Given the description of an element on the screen output the (x, y) to click on. 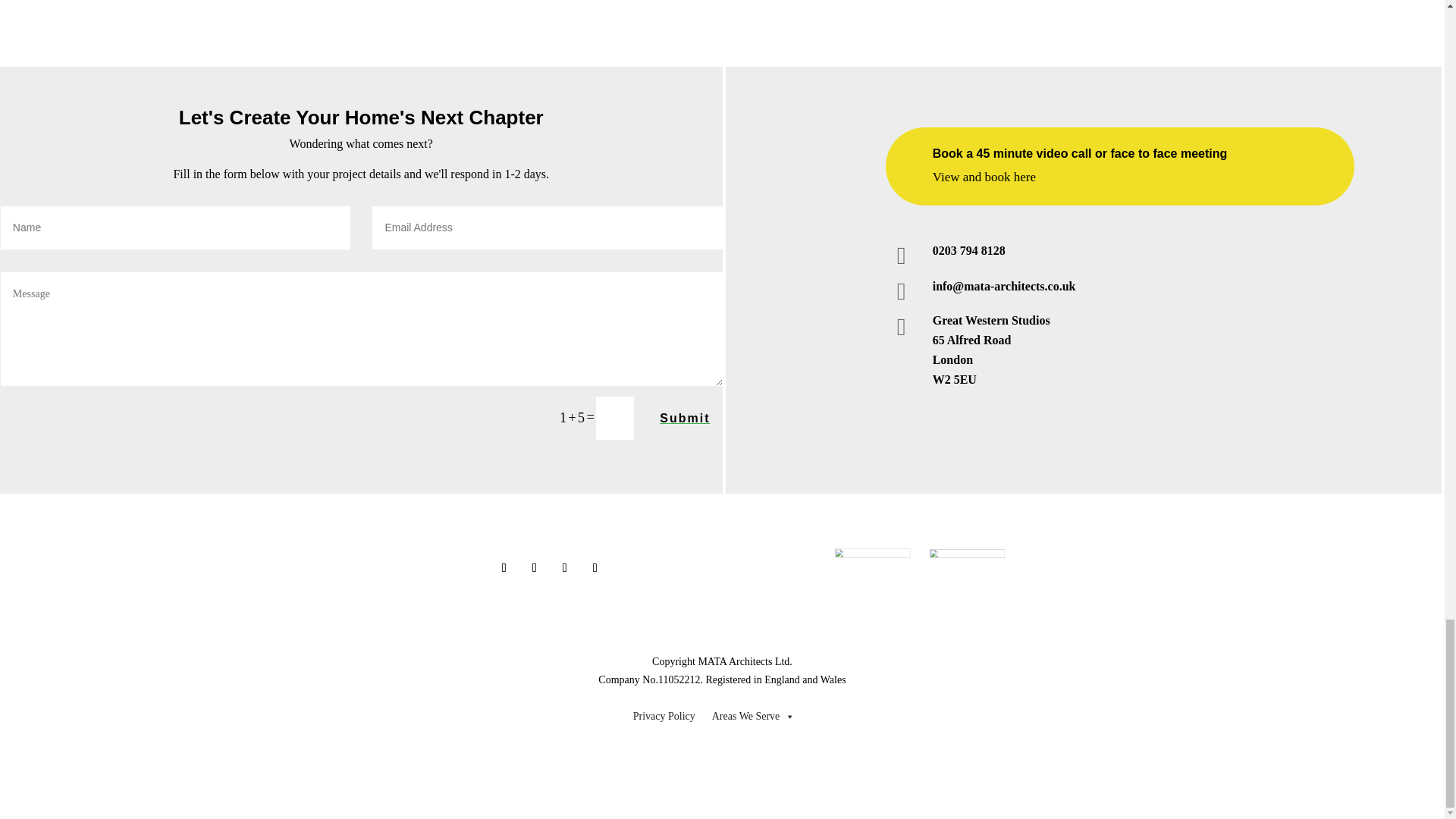
Great Western Studios (991, 319)
Follow on houzz (595, 567)
ARB LOGO (897, 581)
Follow on Facebook (504, 567)
Follow on LinkedIn (534, 567)
Submit (684, 417)
RIBA LOGO (992, 582)
Follow on Instagram (564, 567)
0203 794 8128 (969, 250)
